Given the description of an element on the screen output the (x, y) to click on. 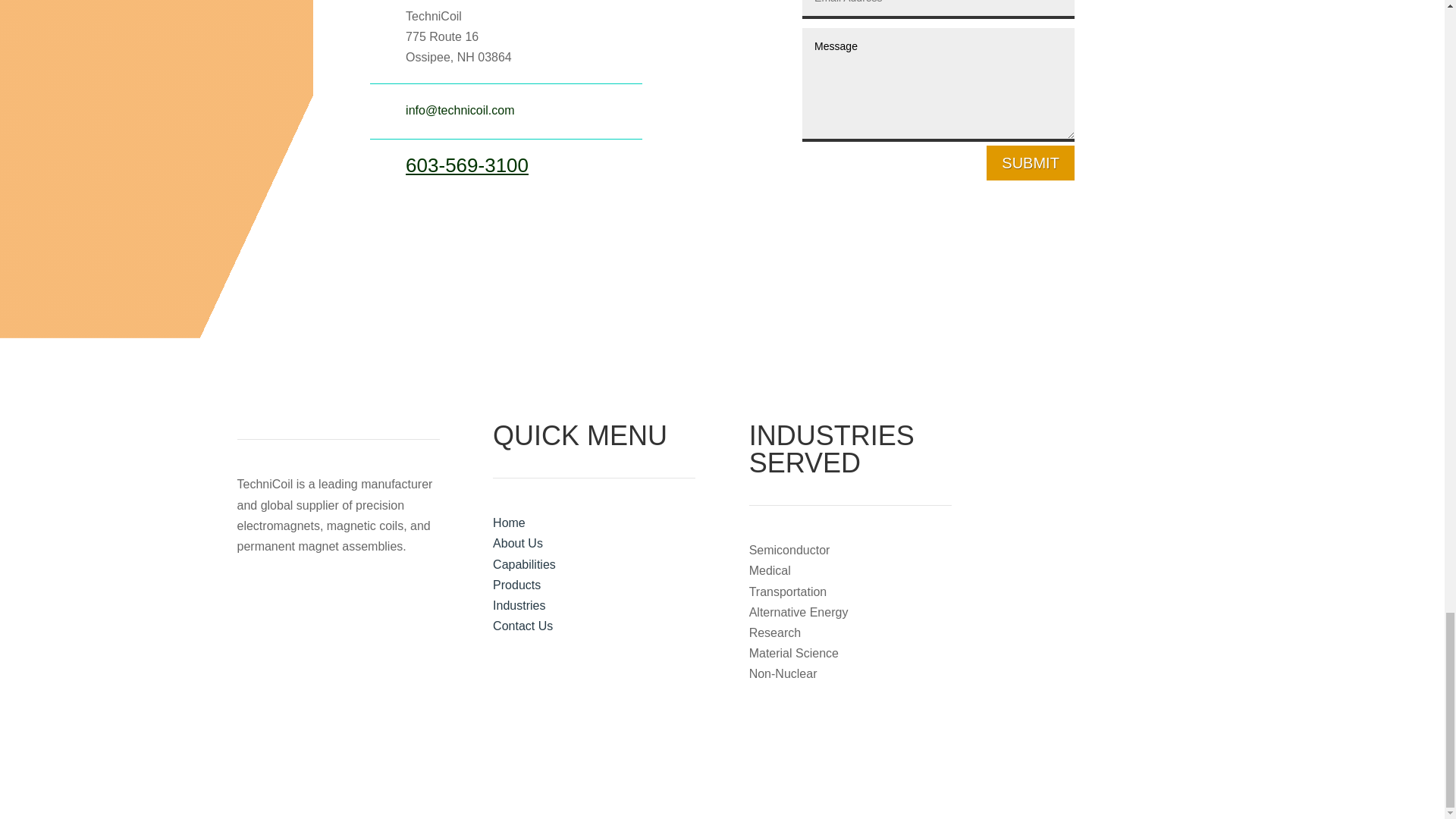
Products (516, 584)
SUBMIT (1030, 162)
About Us (518, 543)
Industries (518, 604)
Contact Us (523, 625)
603-569-3100 (467, 164)
Capabilities (524, 563)
Home (509, 522)
